Given the description of an element on the screen output the (x, y) to click on. 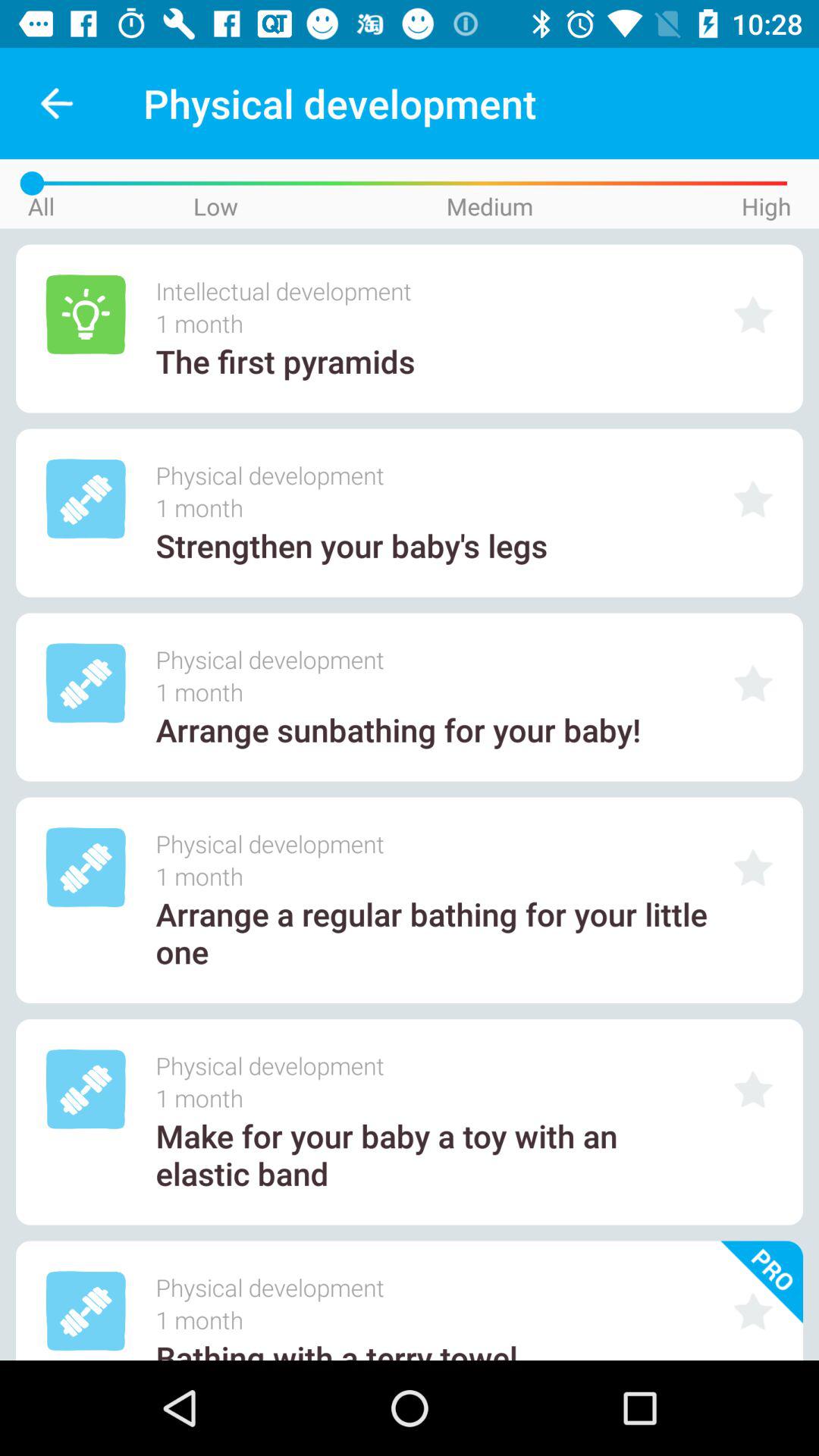
add to favorites (753, 1311)
